Given the description of an element on the screen output the (x, y) to click on. 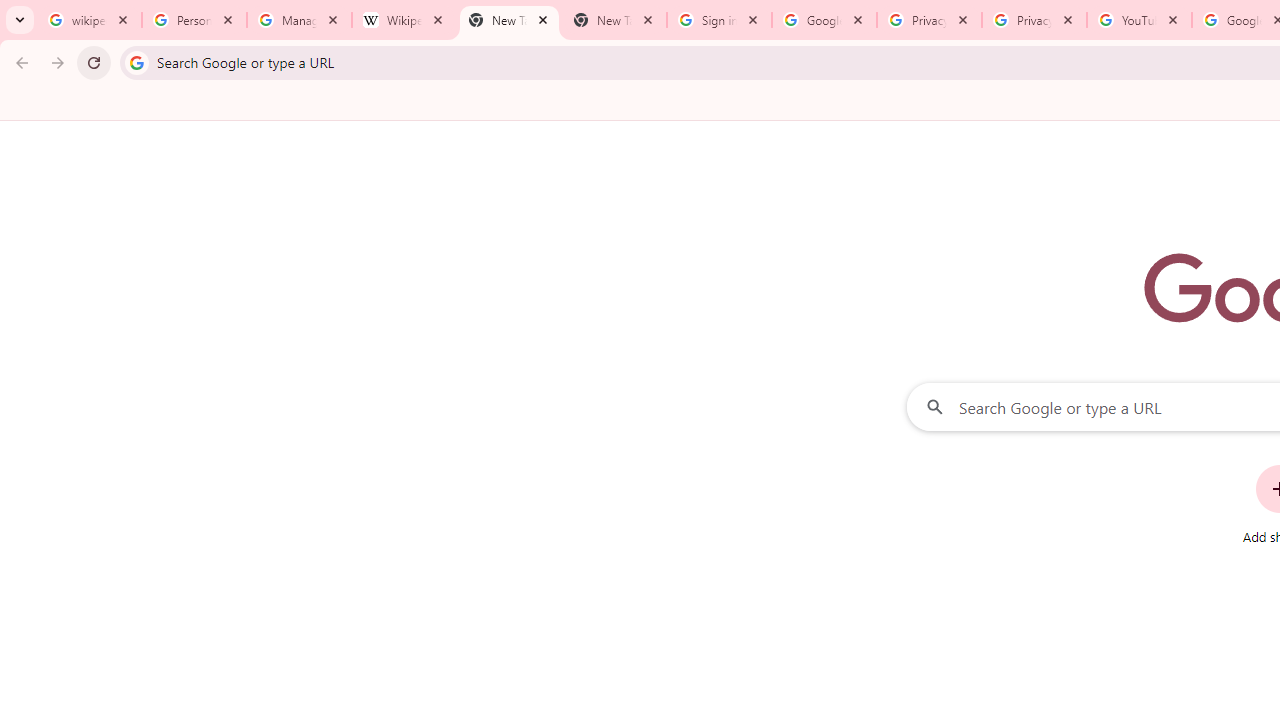
New Tab (613, 20)
Wikipedia:Edit requests - Wikipedia (404, 20)
